Given the description of an element on the screen output the (x, y) to click on. 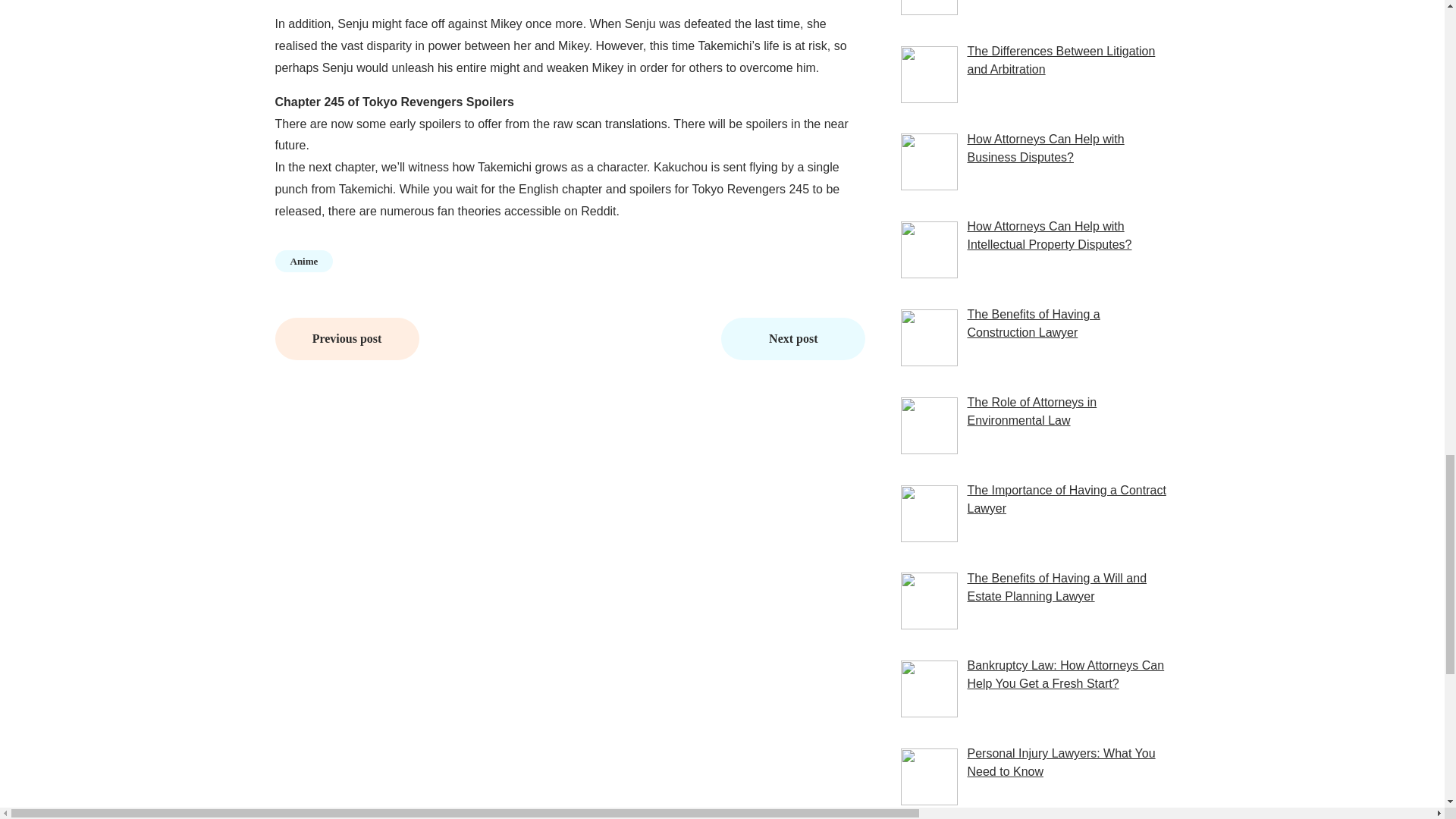
How Attorneys Can Help with Business Disputes? (1045, 147)
Next post (792, 338)
Previous post (347, 338)
The Differences Between Litigation and Arbitration (1060, 60)
Anime (304, 261)
How Attorneys Can Help with Intellectual Property Disputes? (1048, 235)
